Given the description of an element on the screen output the (x, y) to click on. 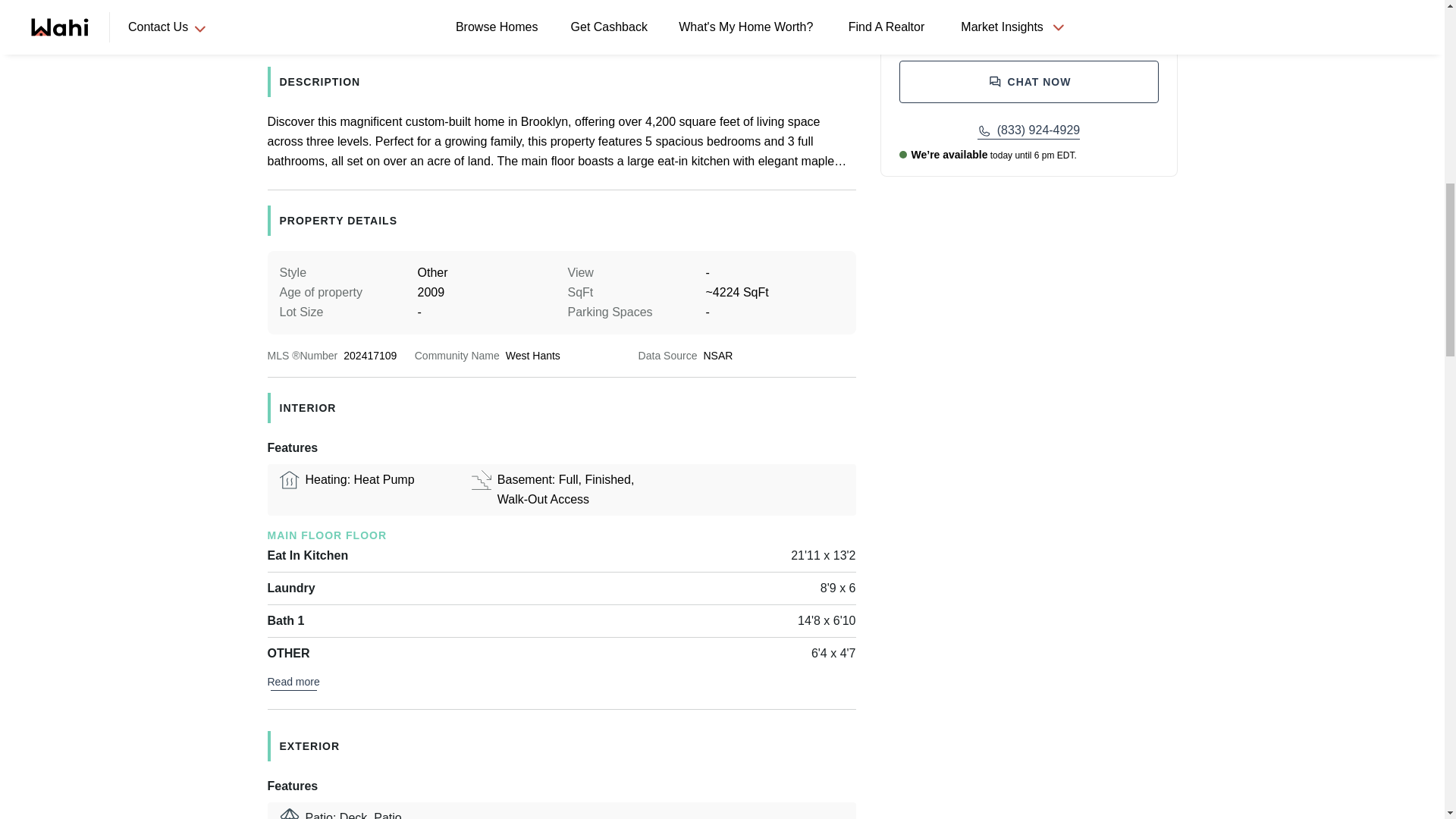
SUBMIT DATES (1028, 2)
Read more (292, 681)
CHAT NOW (1028, 81)
